Given the description of an element on the screen output the (x, y) to click on. 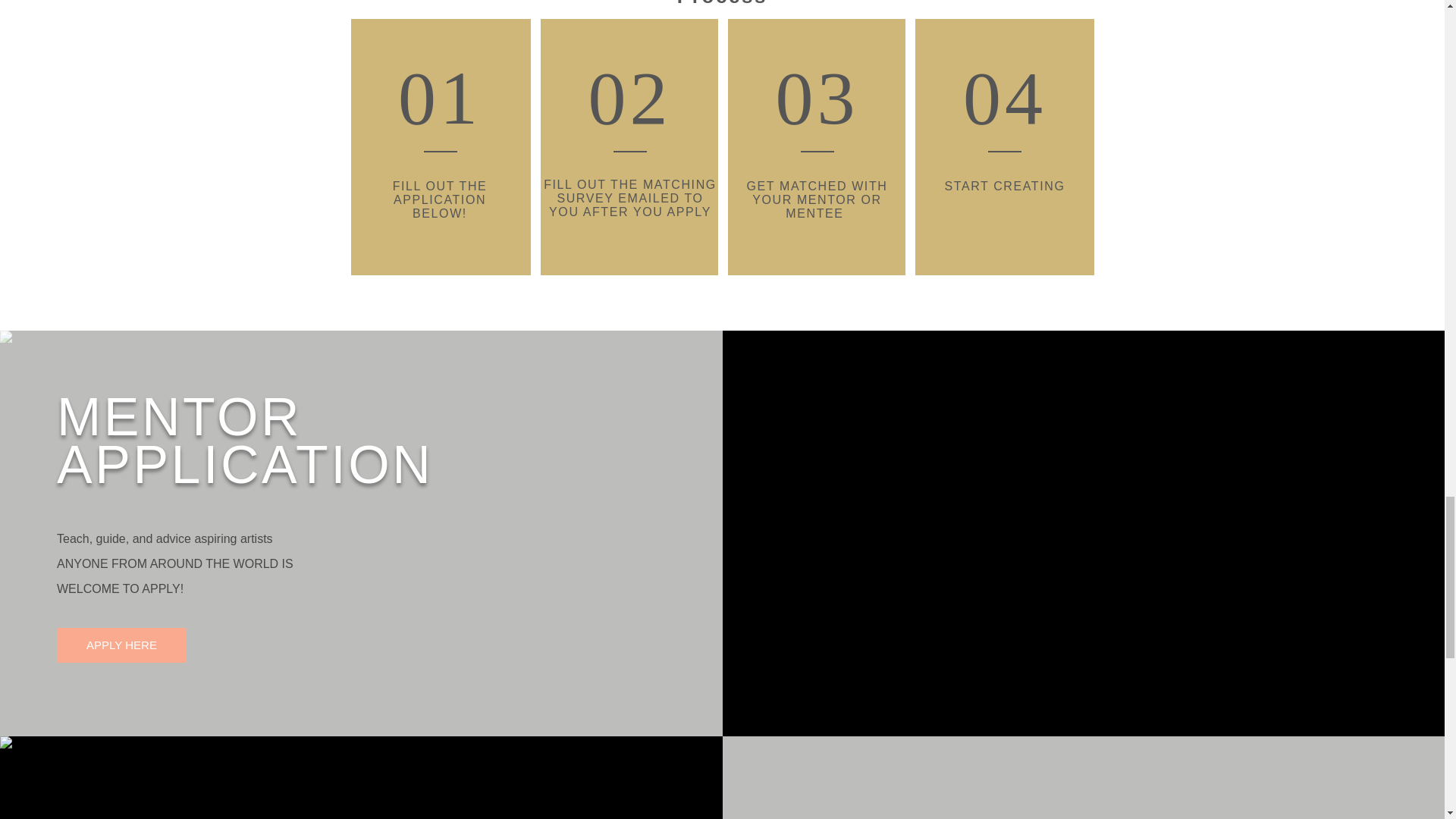
APPLY HERE (121, 645)
